Given the description of an element on the screen output the (x, y) to click on. 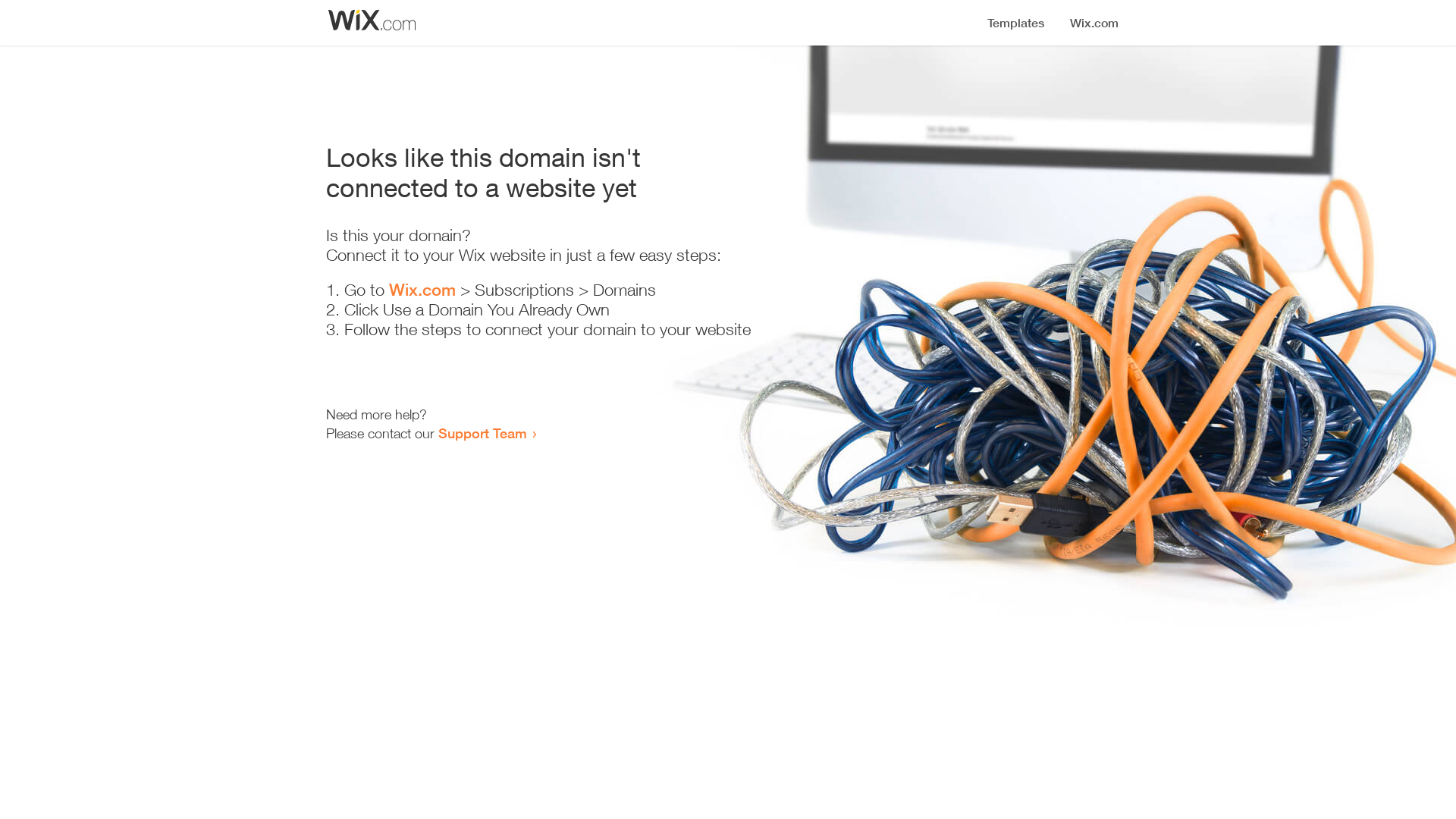
Wix.com Element type: text (422, 289)
Support Team Element type: text (482, 432)
